Given the description of an element on the screen output the (x, y) to click on. 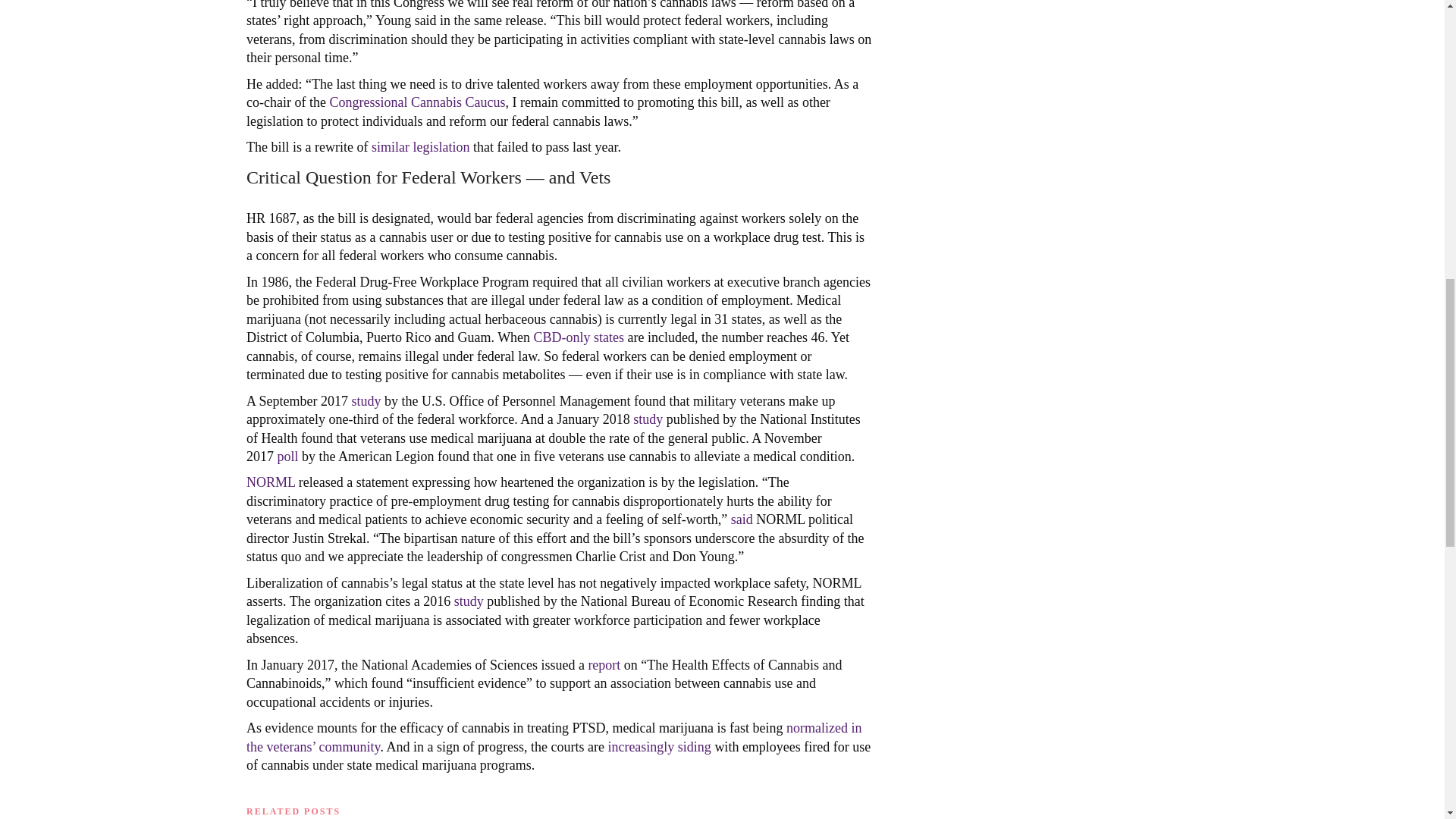
study (468, 601)
said (741, 519)
report (604, 664)
NORML (270, 482)
Congressional Cannabis Caucus (417, 102)
increasingly siding (658, 746)
study (647, 418)
similar legislation (419, 146)
CBD-only states (579, 337)
study  (367, 400)
poll  (290, 456)
